Given the description of an element on the screen output the (x, y) to click on. 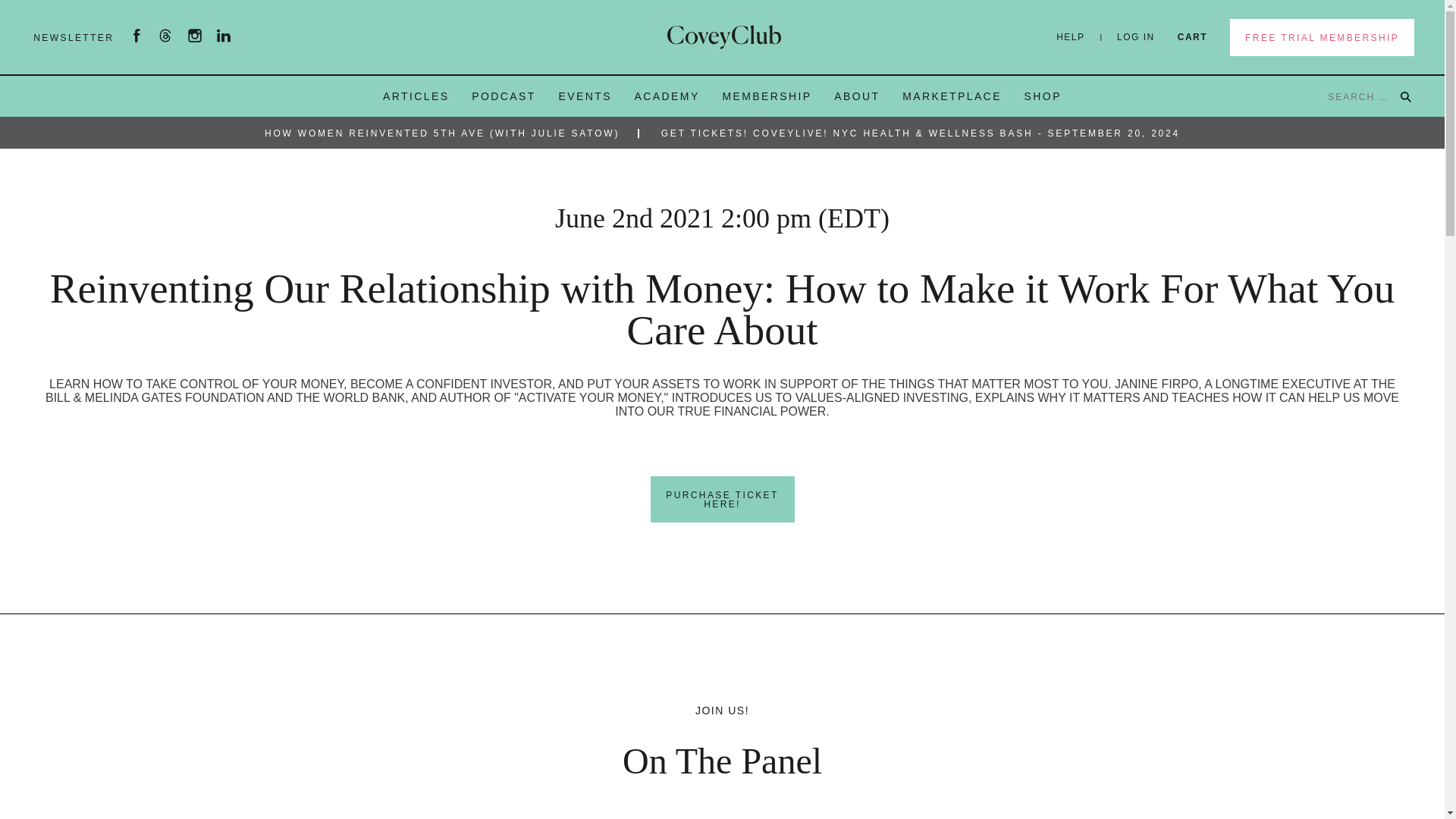
CoveyClub (723, 37)
ACADEMY (667, 95)
CoveyClub on Linkedin (223, 37)
CoveyClub on Twitter (164, 37)
My Cart (1188, 36)
CoveyClub on Facebook (135, 37)
CoveyClub on Instagram (194, 37)
EVENTS (584, 95)
PODCAST (503, 95)
